Given the description of an element on the screen output the (x, y) to click on. 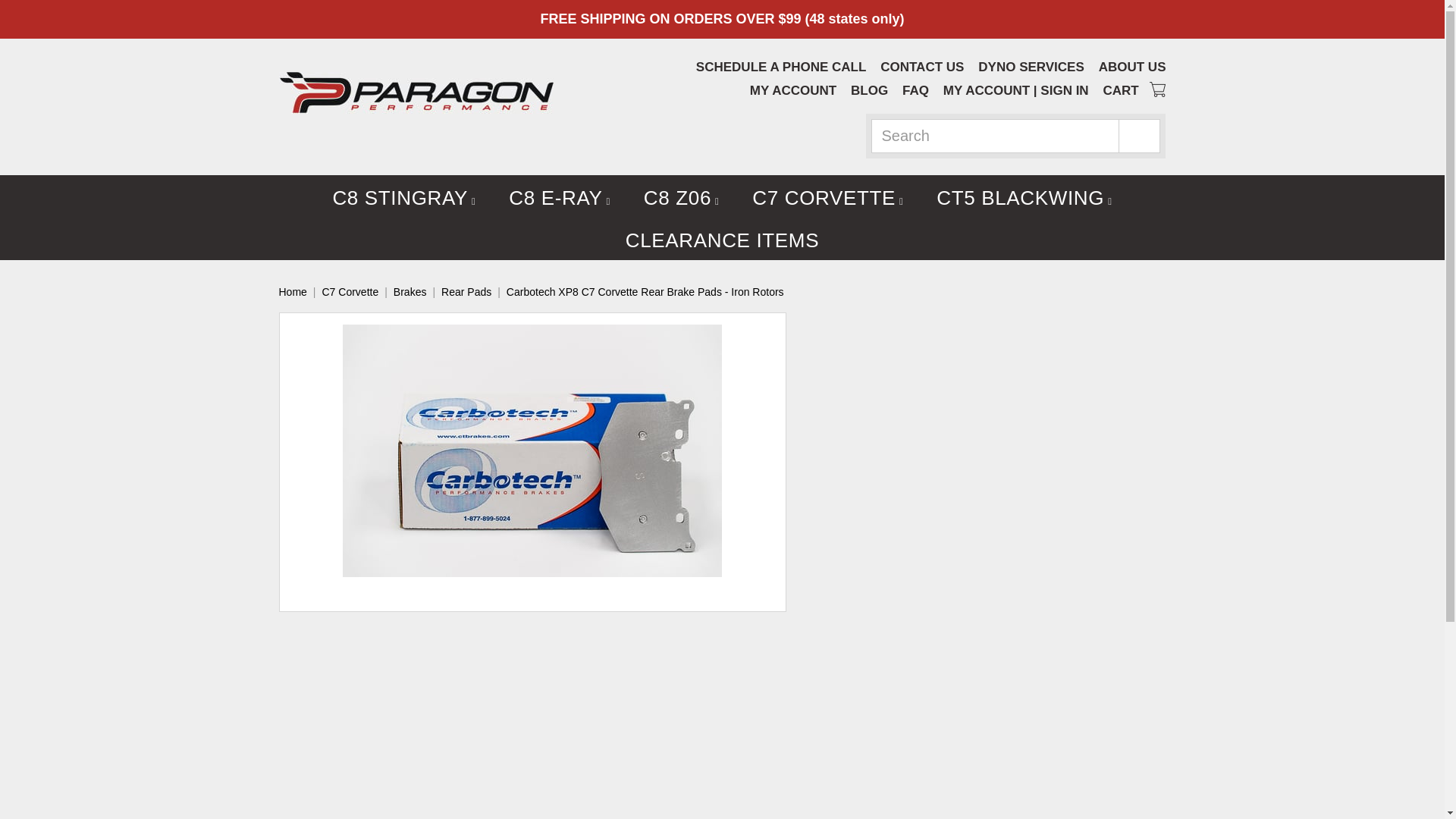
ABOUT US (1132, 66)
C8 STINGRAY (403, 196)
CONTACT US (921, 66)
CART (1134, 90)
FAQ (915, 90)
MY ACCOUNT (986, 90)
SIGN IN (1064, 90)
BLOG (869, 90)
C8 E-RAY (559, 196)
MY ACCOUNT (792, 90)
